Given the description of an element on the screen output the (x, y) to click on. 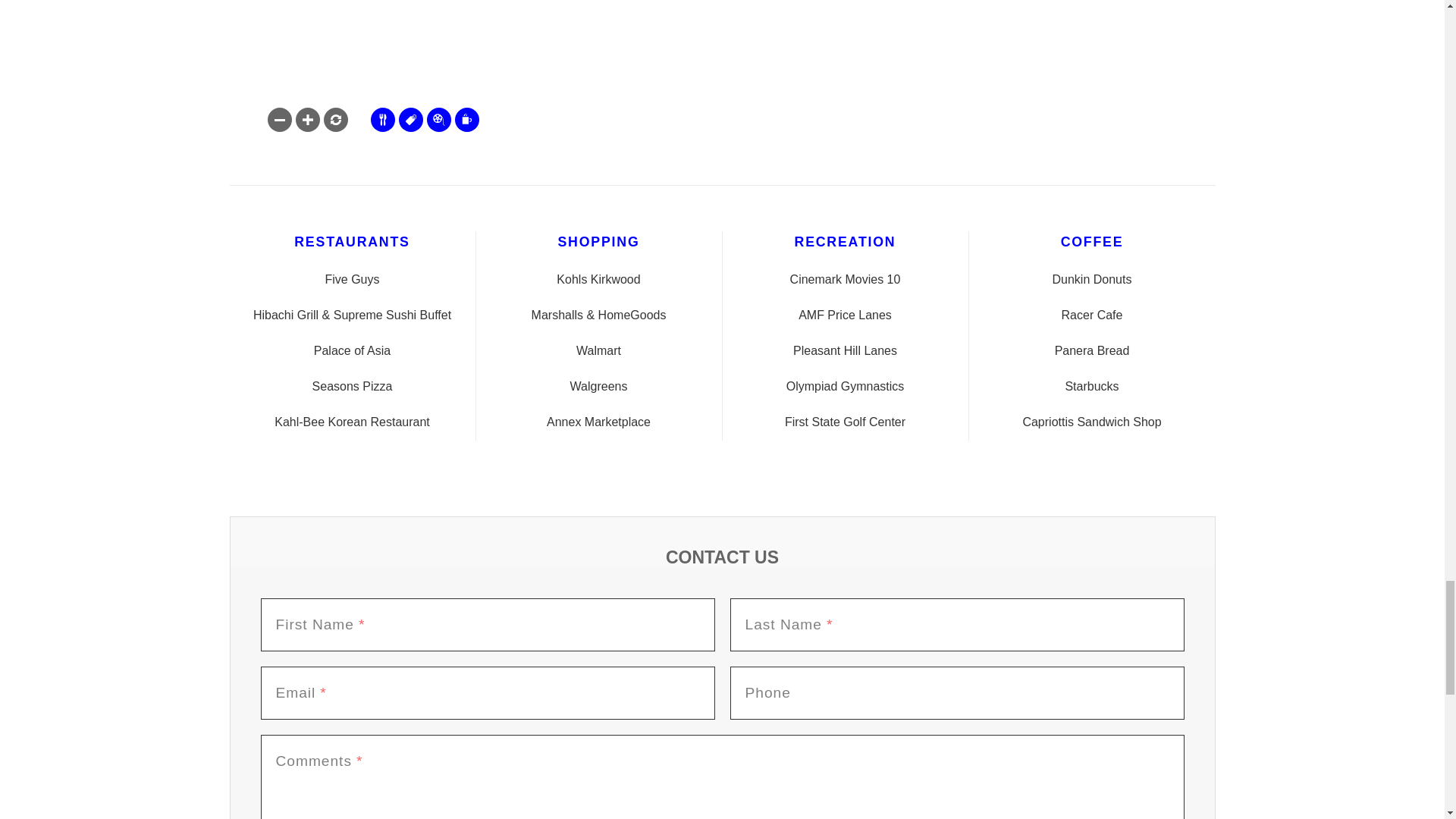
Seasons Pizza (352, 386)
Five Guys (352, 280)
Walmart (599, 351)
Kahl-Bee Korean Restaurant (352, 422)
Palace of Asia (352, 351)
Kohls Kirkwood (599, 280)
Annex Marketplace (599, 422)
Cinemark Movies 10 (844, 280)
Walgreens (599, 386)
